Given the description of an element on the screen output the (x, y) to click on. 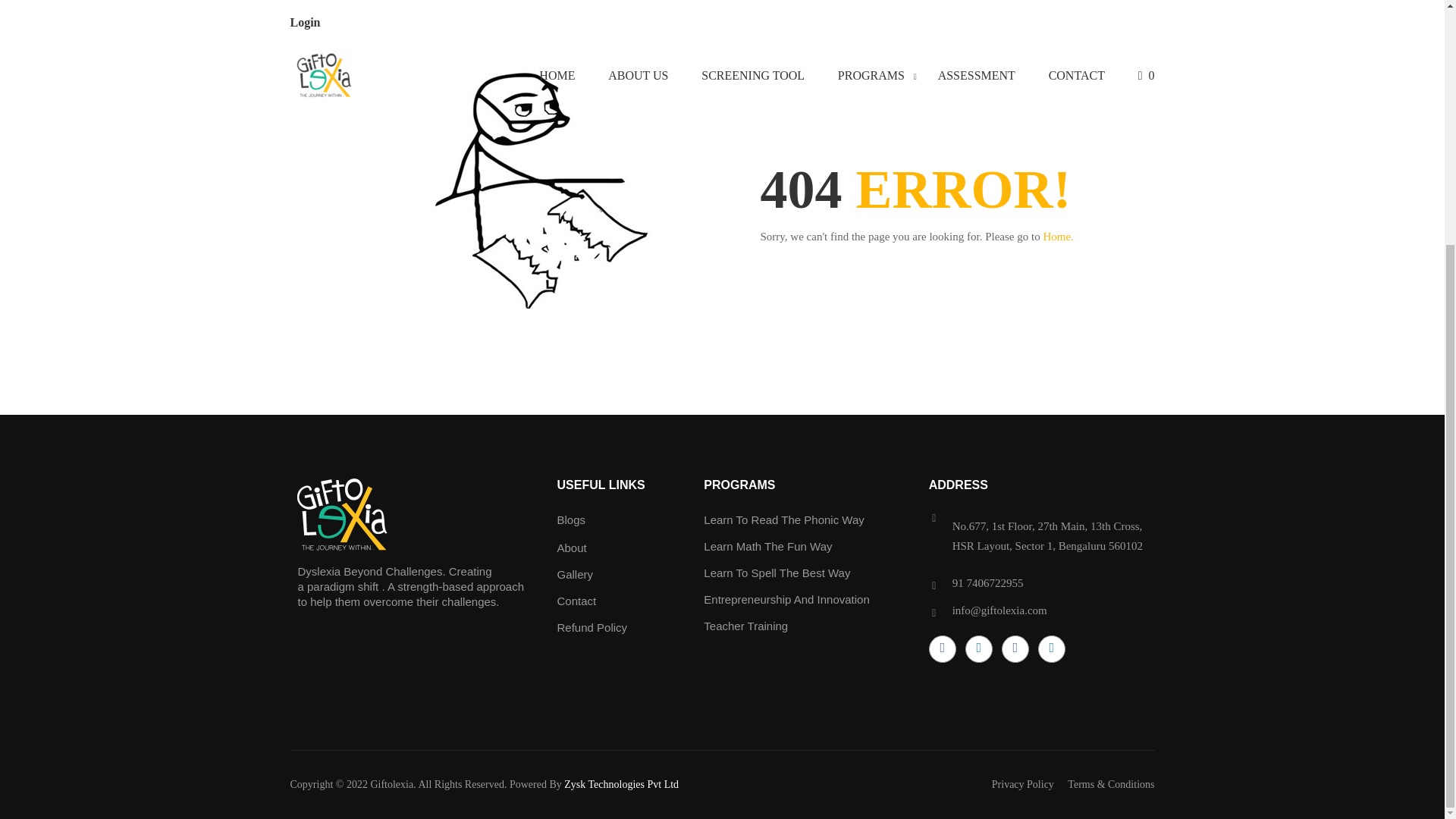
Home. (1057, 236)
Gallery (574, 574)
Learn To Spell The Best Way (776, 572)
Teacher Training (745, 625)
91 7406722955 (987, 582)
Entrepreneurship And Innovation (786, 599)
Learn Math The Fun Way (767, 545)
Learn To Read The Phonic Way (783, 519)
About (571, 547)
Contact (575, 600)
